Given the description of an element on the screen output the (x, y) to click on. 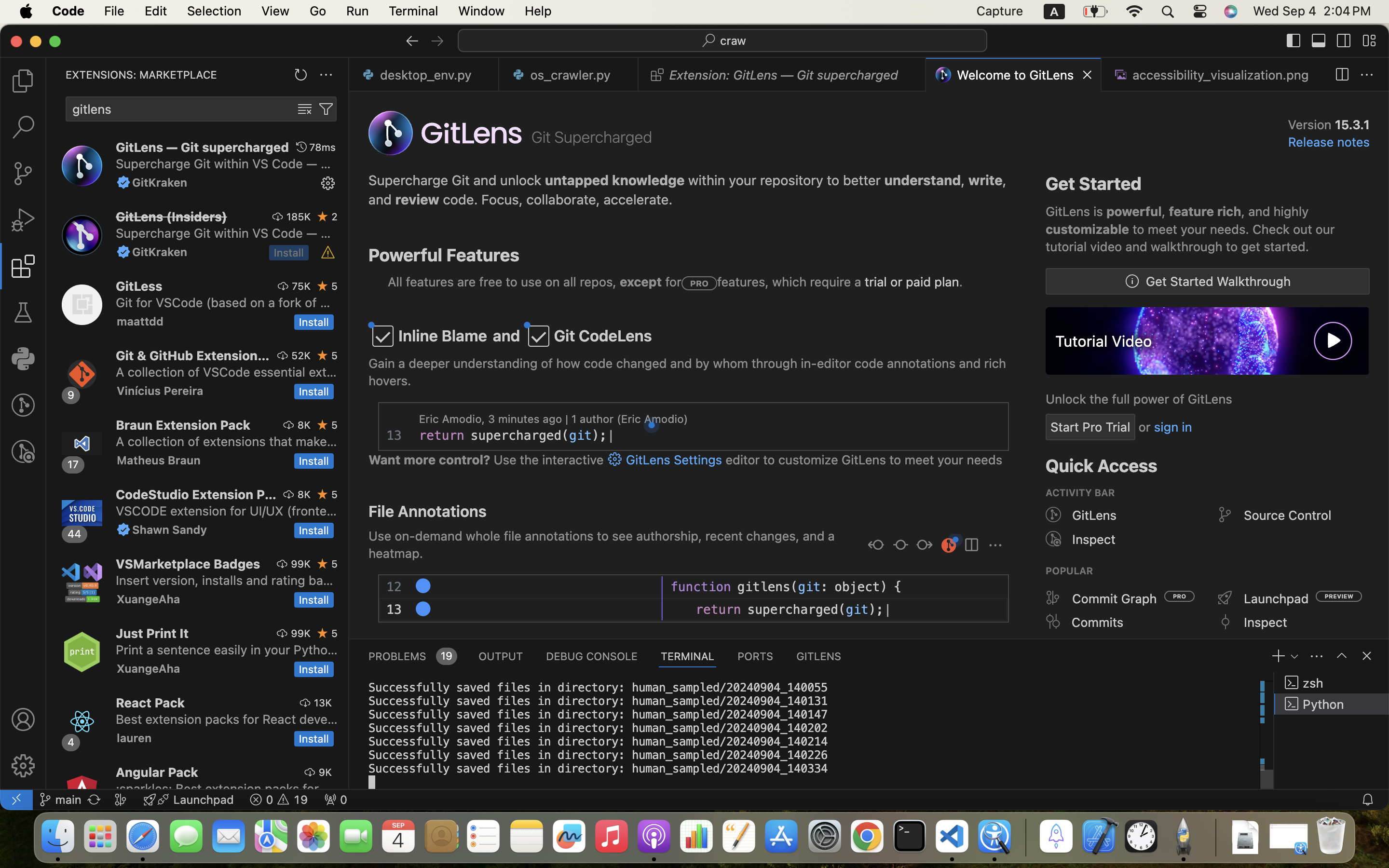
Want more control? Element type: AXStaticText (429, 459)
CodeStudio Extension Pack Element type: AXStaticText (195, 494)
99K Element type: AXStaticText (300, 563)
 Element type: AXButton (1341, 74)
Best extension packs for React development and more. Element type: AXStaticText (226, 718)
